Given the description of an element on the screen output the (x, y) to click on. 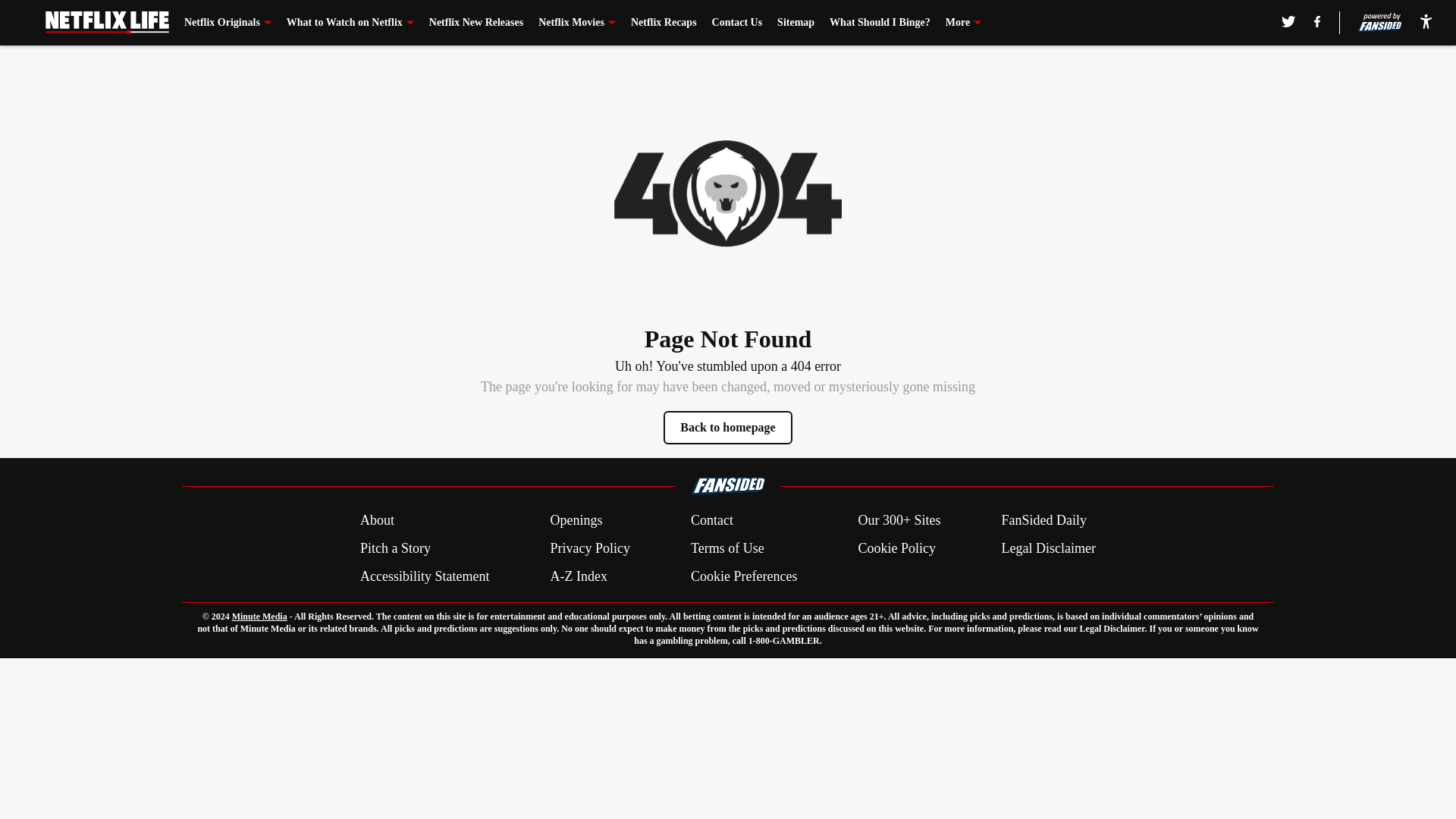
Netflix New Releases (475, 22)
Netflix Originals (227, 22)
Error image (727, 193)
Netflix Movies (576, 22)
What to Watch on Netflix (349, 22)
